Given the description of an element on the screen output the (x, y) to click on. 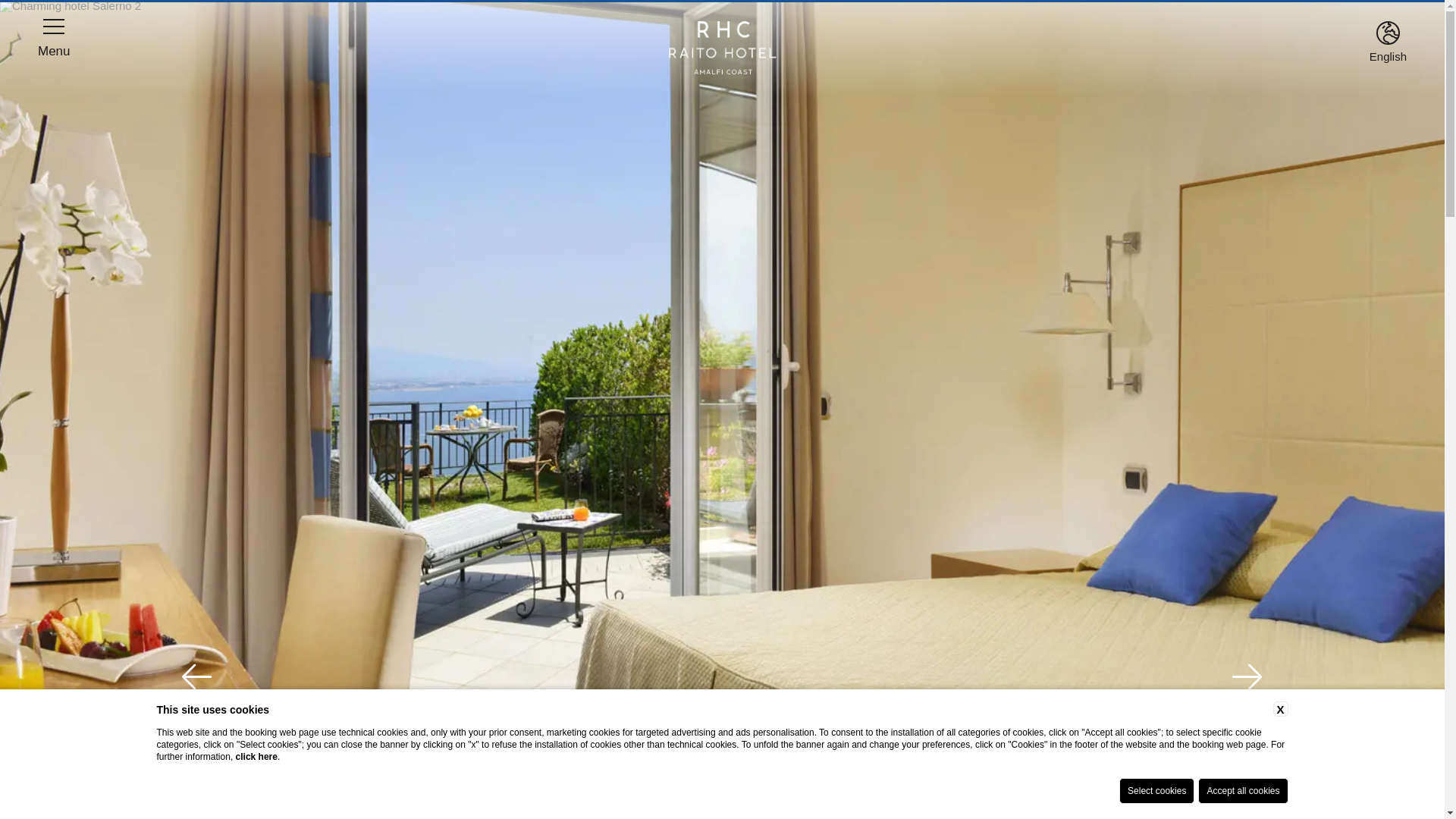
Hotel Raito Logo White (722, 47)
Select cookies (1156, 790)
Accept all cookies (1242, 790)
Charming hotel Salerno 3 (70, 6)
Book (1222, 783)
